Given the description of an element on the screen output the (x, y) to click on. 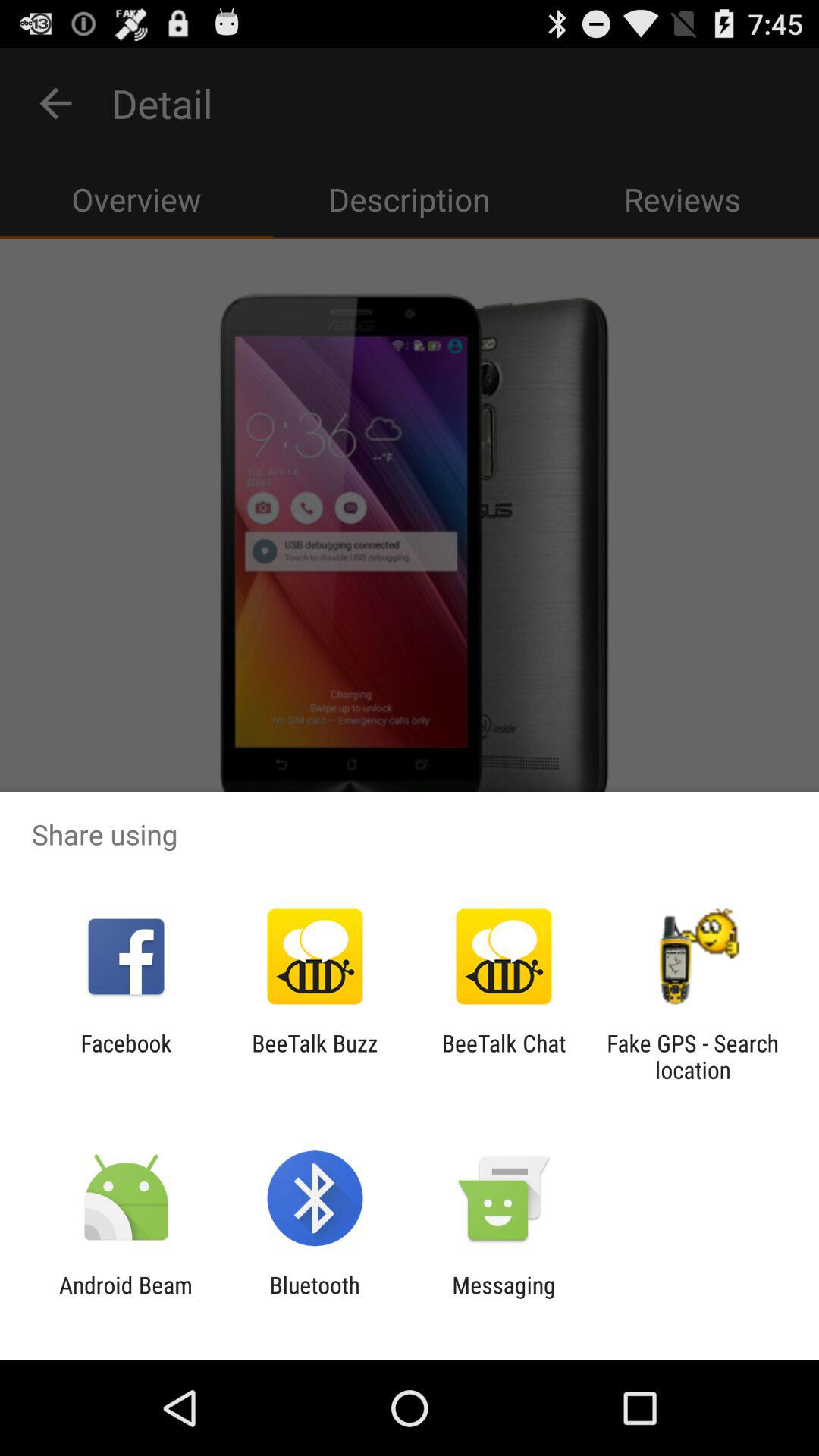
turn off app to the right of the android beam (314, 1298)
